Given the description of an element on the screen output the (x, y) to click on. 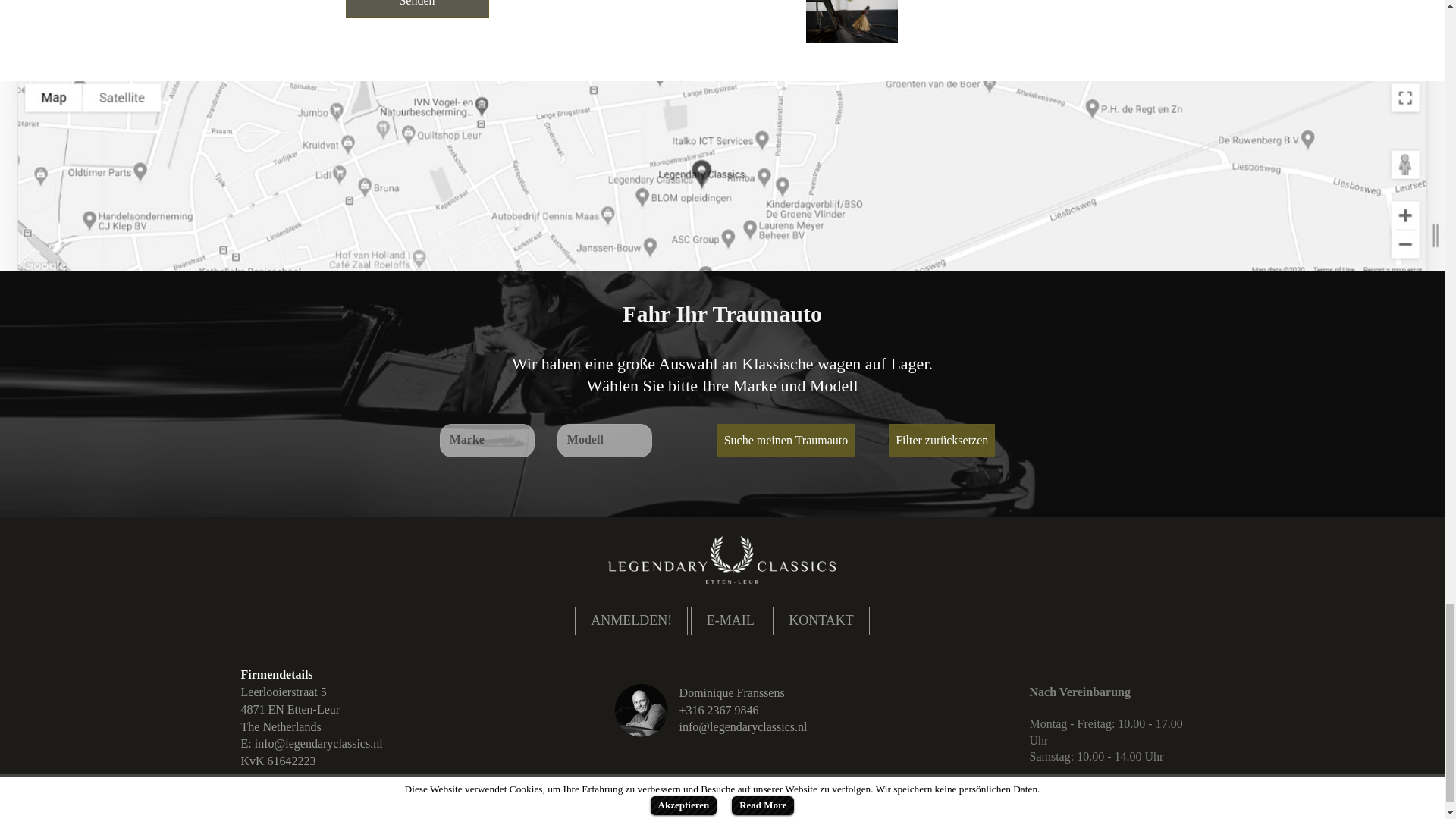
KONTAKT (821, 620)
E-MAIL (730, 620)
ANMELDEN! (631, 620)
